Given the description of an element on the screen output the (x, y) to click on. 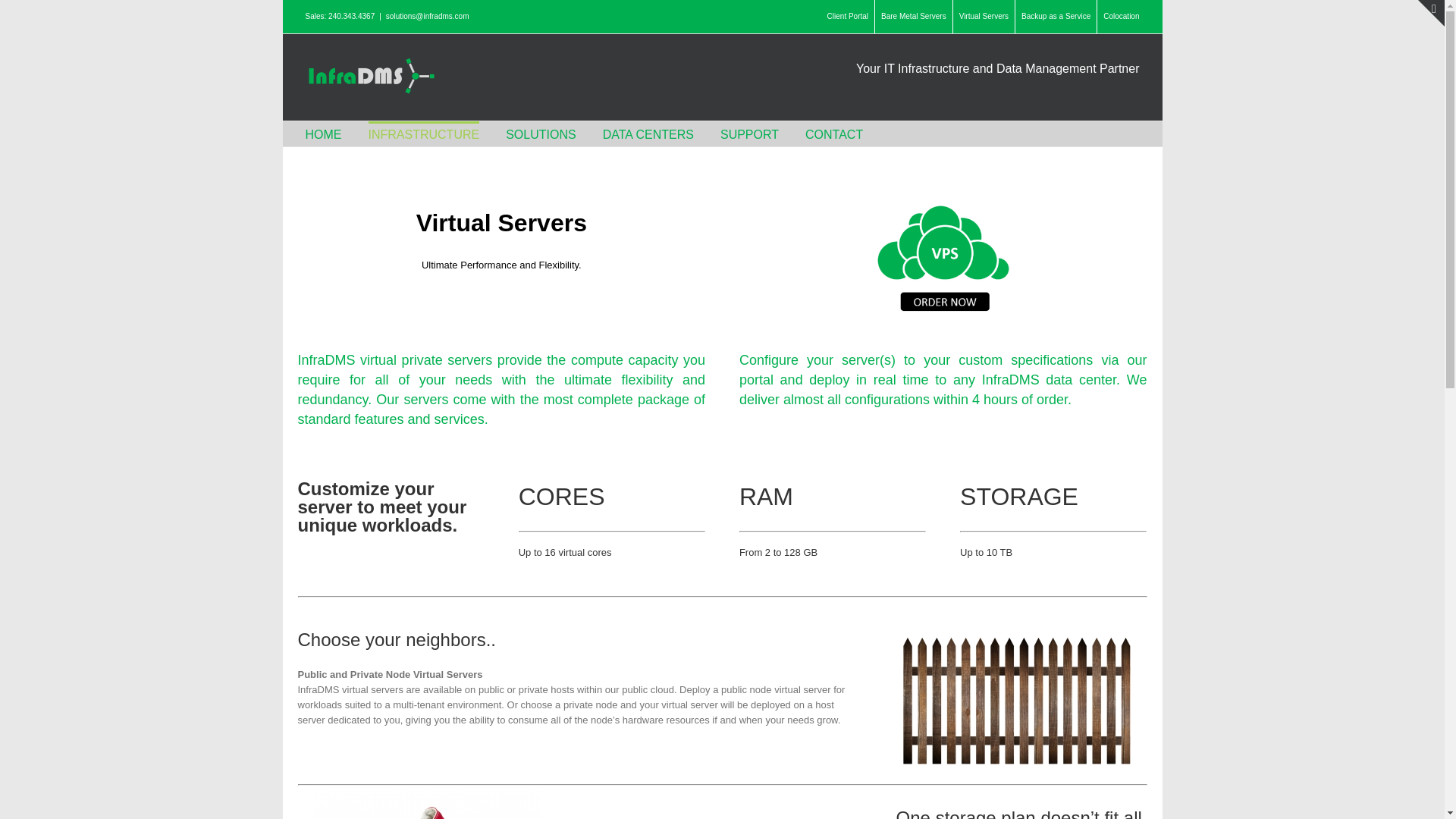
HOME (322, 133)
Backup as a Service (1056, 16)
INFRASTRUCTURE (424, 133)
Virtual Servers (984, 16)
DATA CENTERS (648, 133)
Bare Metal Servers (913, 16)
SOLUTIONS (540, 133)
Client Portal (847, 16)
Colocation (1120, 16)
